Given the description of an element on the screen output the (x, y) to click on. 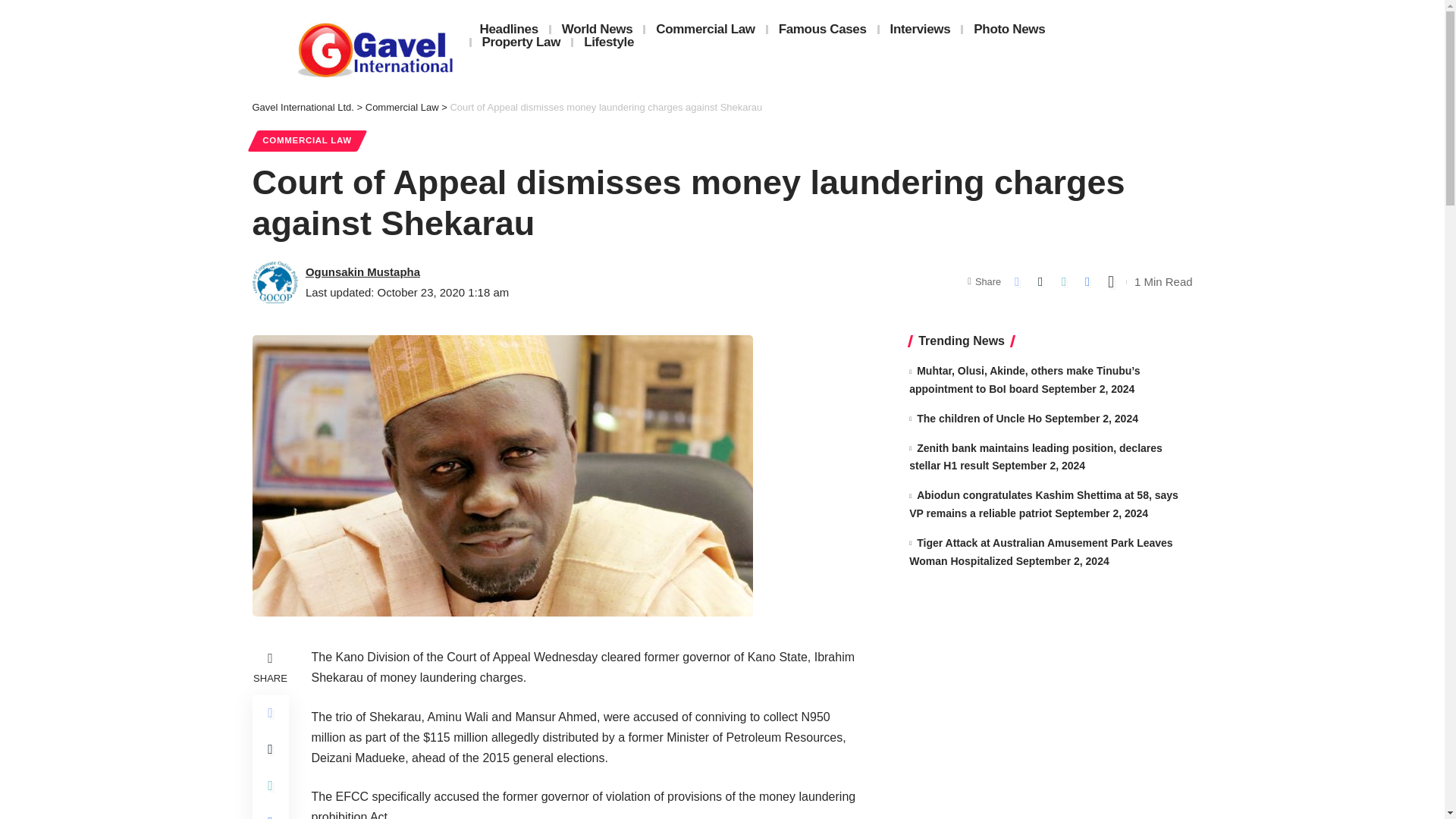
Gavel International Ltd. (302, 107)
Interviews (919, 29)
Commercial Law (705, 29)
Go to the Commercial Law Category archives. (402, 107)
Property Law (521, 42)
Photo News (1008, 29)
Headlines (508, 29)
Commercial Law (402, 107)
